Given the description of an element on the screen output the (x, y) to click on. 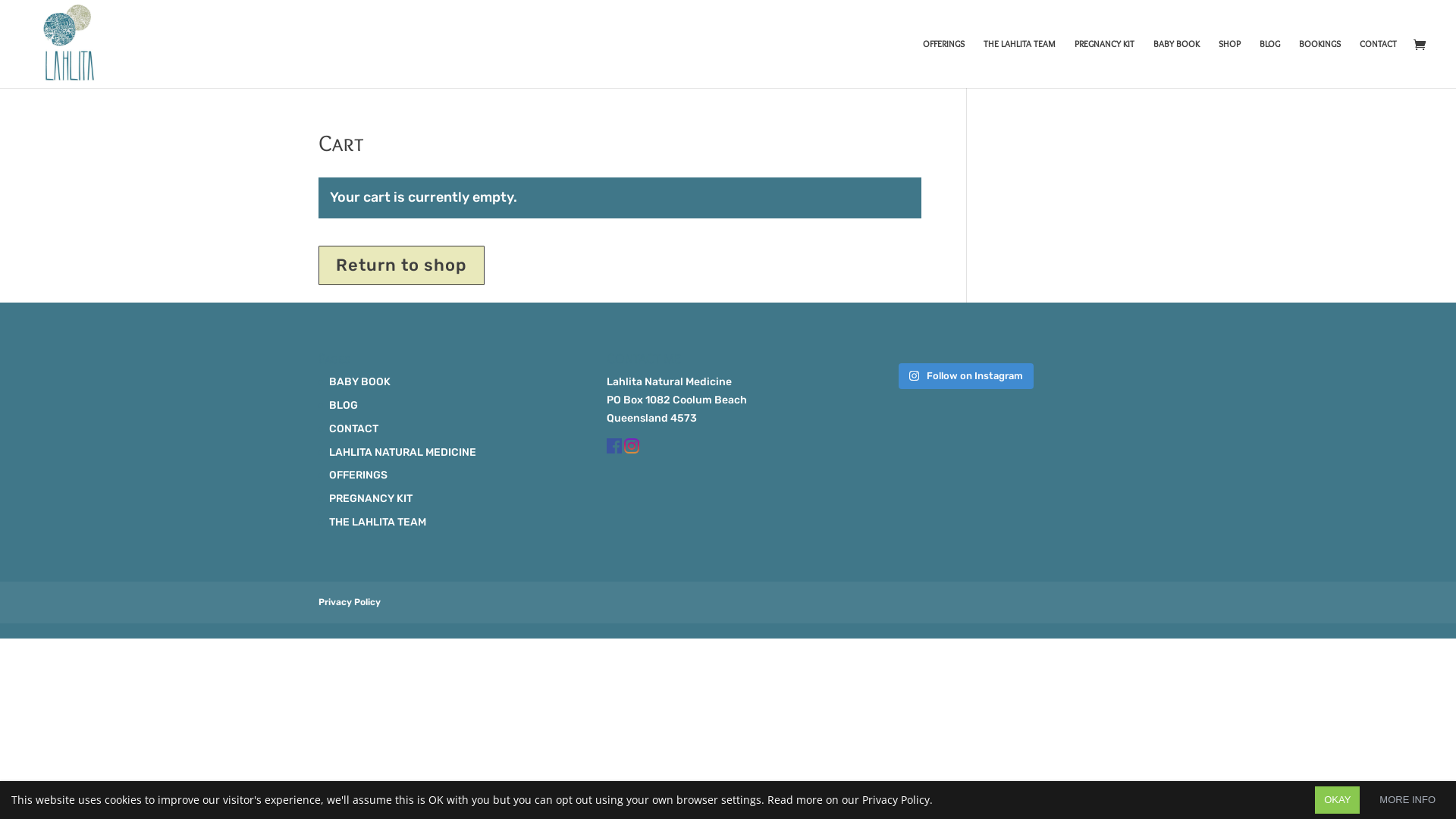
BABY BOOK Element type: text (359, 381)
BLOG Element type: text (343, 404)
CONTACT Element type: text (353, 428)
OFFERINGS Element type: text (943, 62)
SHOP Element type: text (1229, 62)
BABY BOOK Element type: text (1176, 62)
THE LAHLITA TEAM Element type: text (1019, 62)
MORE INFO Element type: text (1407, 799)
PREGNANCY KIT Element type: text (370, 498)
OFFERINGS Element type: text (358, 474)
Return to shop Element type: text (401, 265)
THE LAHLITA TEAM Element type: text (377, 521)
BOOKINGS Element type: text (1319, 62)
Privacy Policy Element type: text (349, 601)
PREGNANCY KIT Element type: text (1104, 62)
  Element type: text (615, 449)
BLOG Element type: text (1269, 62)
Follow on Instagram Element type: text (965, 376)
CONTACT Element type: text (1377, 62)
LAHLITA NATURAL MEDICINE Element type: text (402, 451)
